Given the description of an element on the screen output the (x, y) to click on. 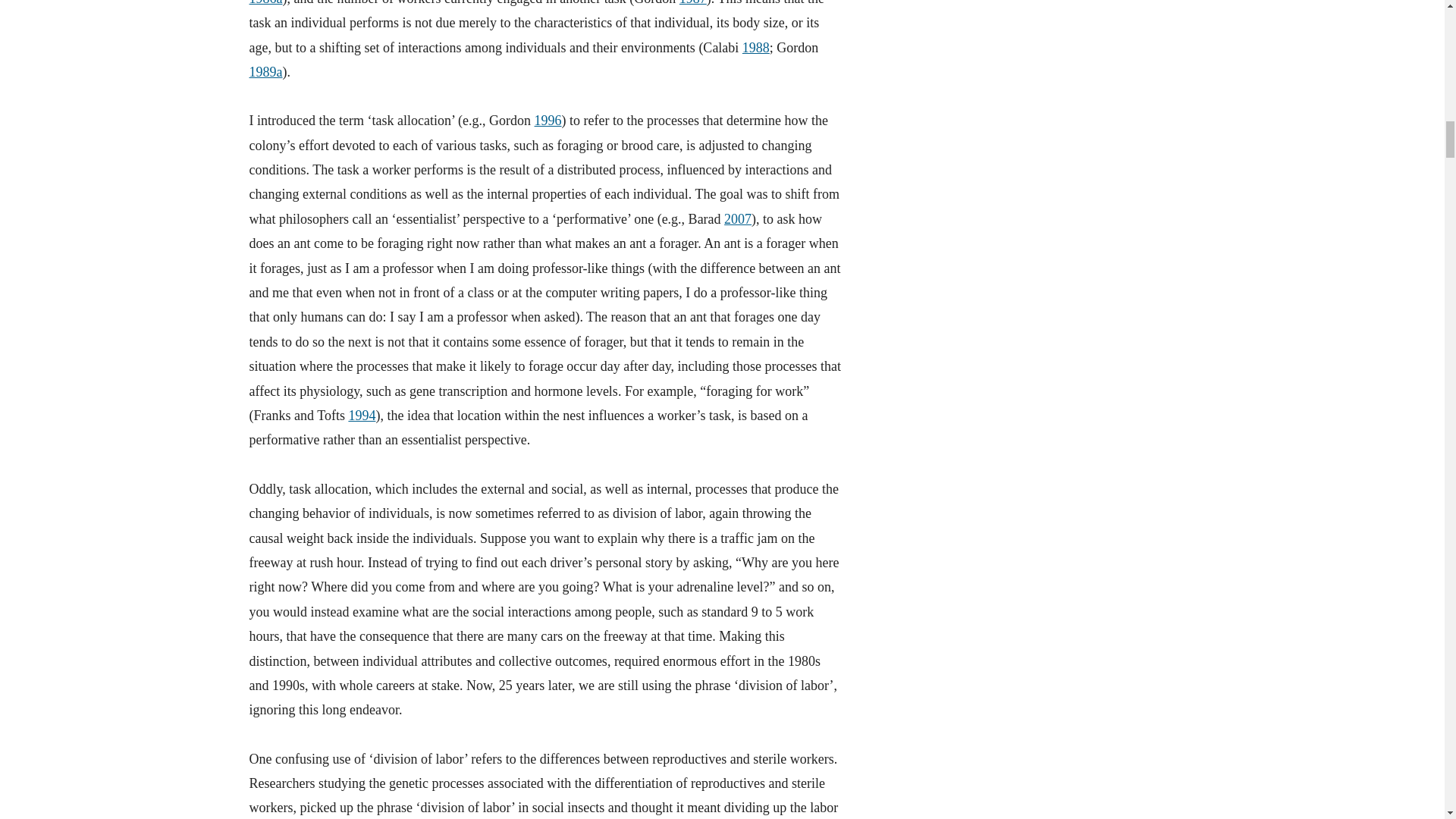
1986a (265, 2)
1987 (692, 2)
1988 (756, 47)
1989a (265, 71)
1996 (548, 120)
2007 (737, 218)
